Given the description of an element on the screen output the (x, y) to click on. 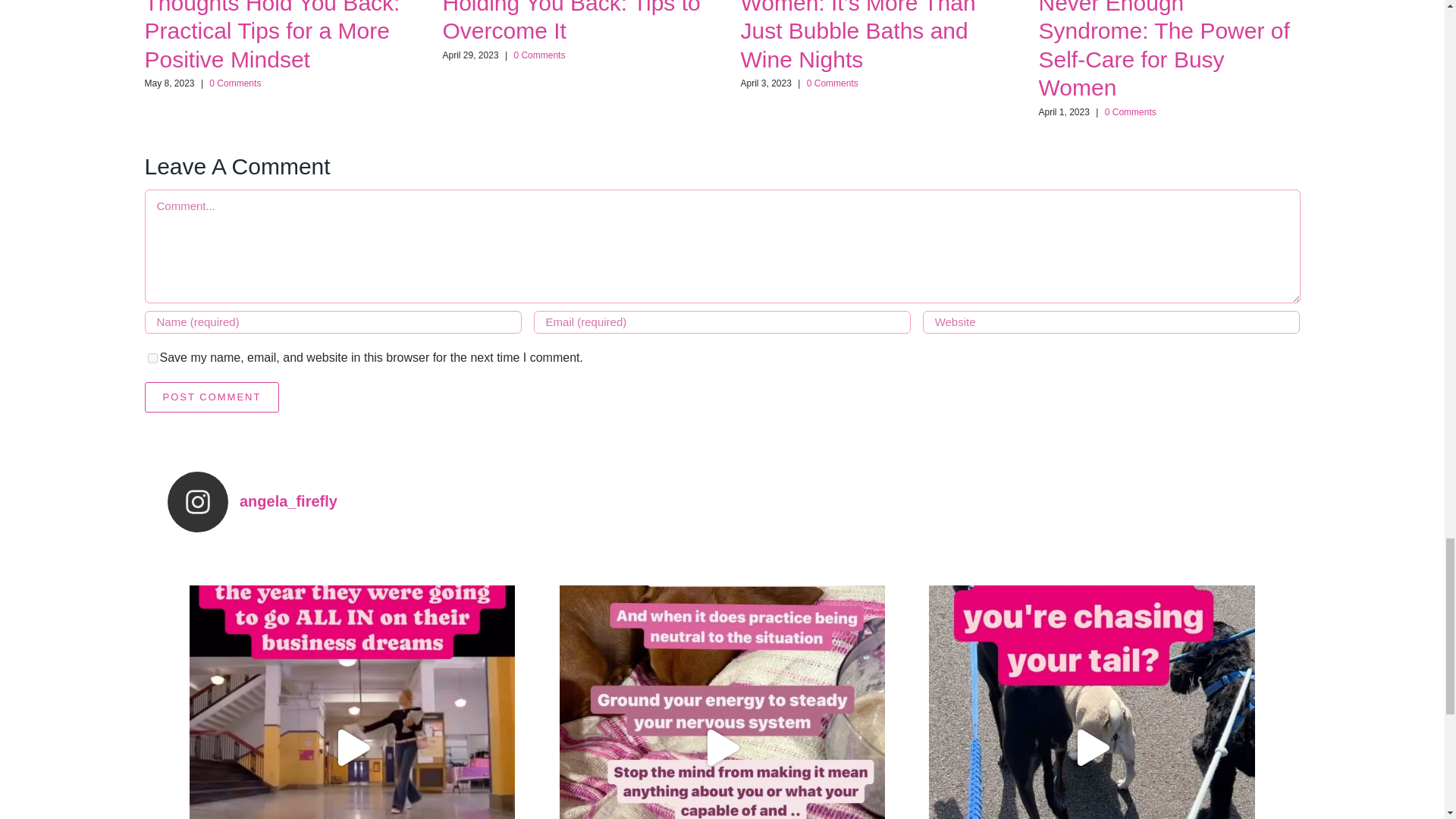
Post Comment (211, 397)
yes (152, 357)
Why Constant Worry is Holding You Back: Tips to Overcome It (571, 21)
